Given the description of an element on the screen output the (x, y) to click on. 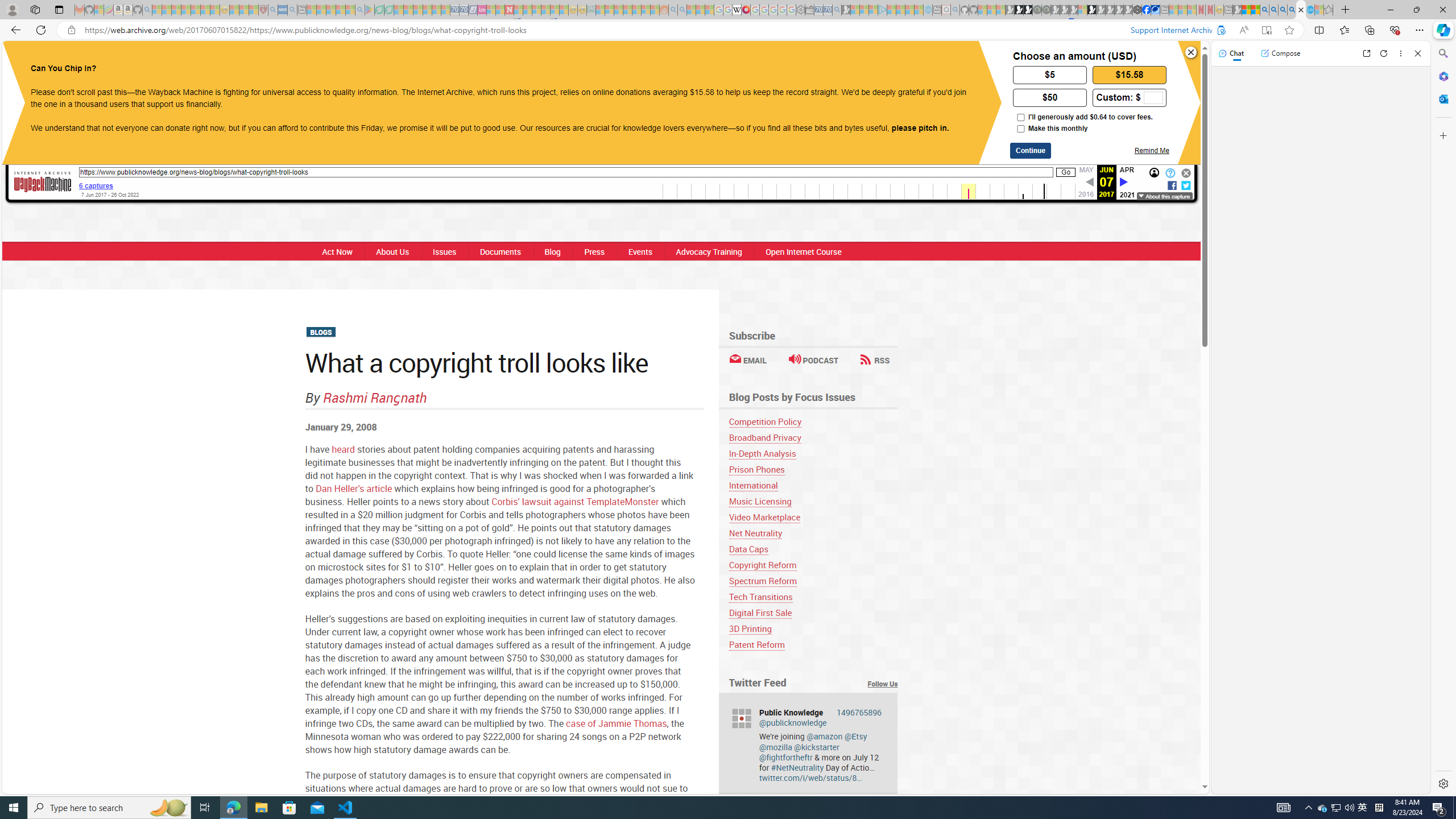
Nordace - Cooler Bags (1137, 9)
